Given the description of an element on the screen output the (x, y) to click on. 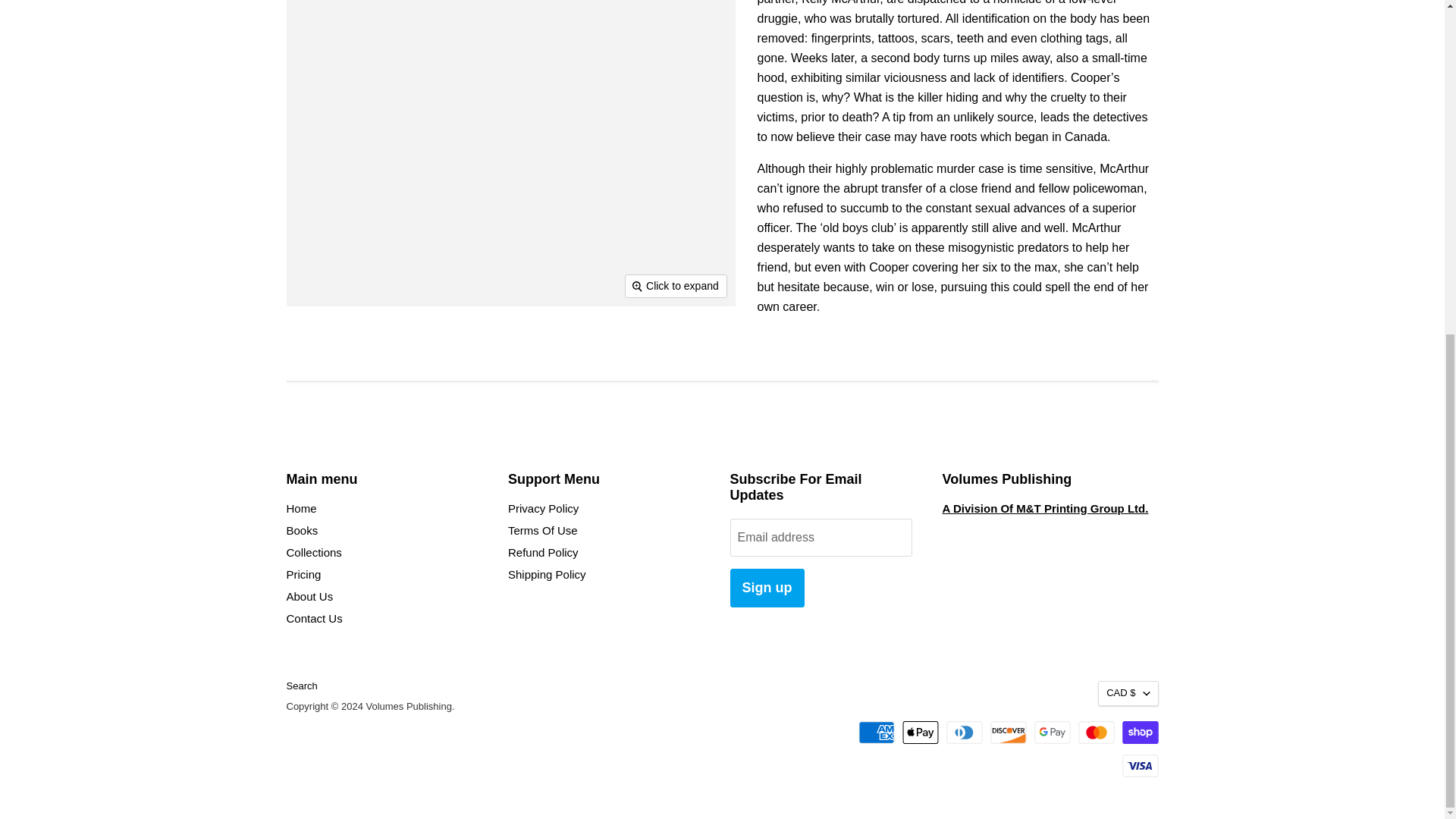
Google Pay (1051, 732)
Apple Pay (920, 732)
Shop Pay (1140, 732)
Click to expand (676, 285)
Discover (1008, 732)
American Express (877, 732)
Visa (1140, 765)
Mastercard (1096, 732)
Diners Club (964, 732)
